Given the description of an element on the screen output the (x, y) to click on. 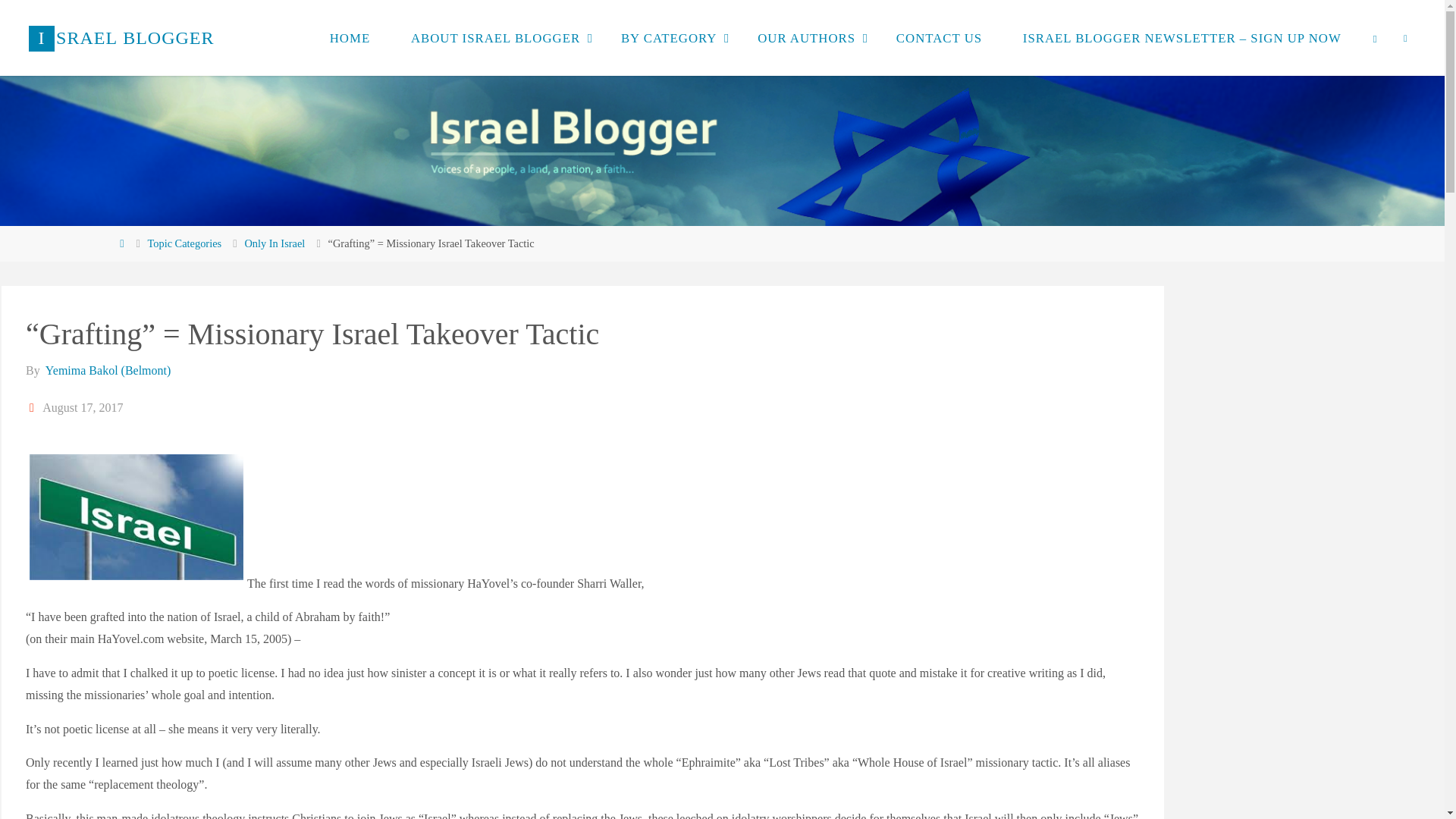
ISRAEL BLOGGER (121, 37)
The collective voice that is Israel (121, 37)
Date (33, 407)
